Given the description of an element on the screen output the (x, y) to click on. 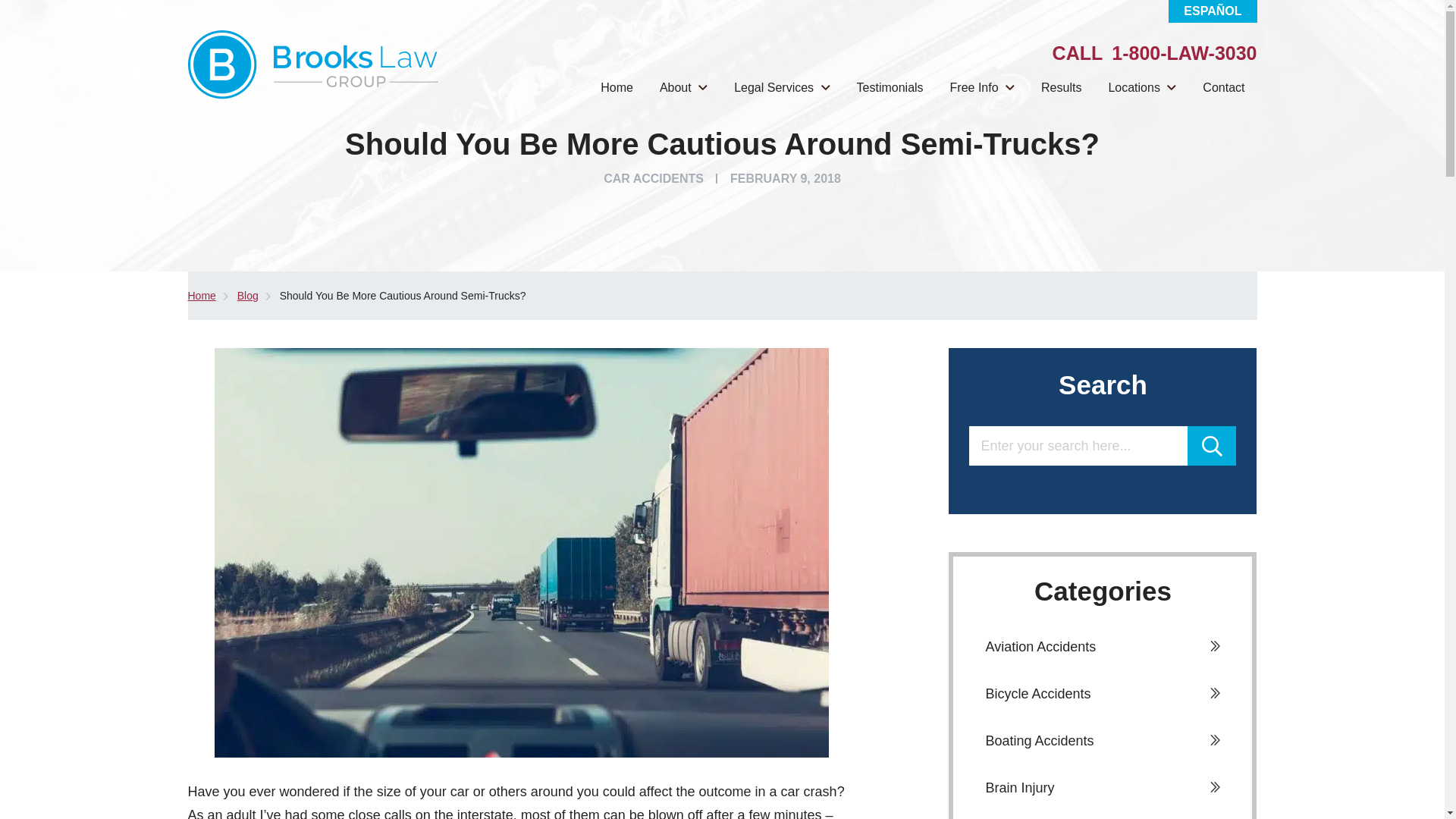
Legal Services (781, 87)
About (683, 87)
Home (616, 87)
